Given the description of an element on the screen output the (x, y) to click on. 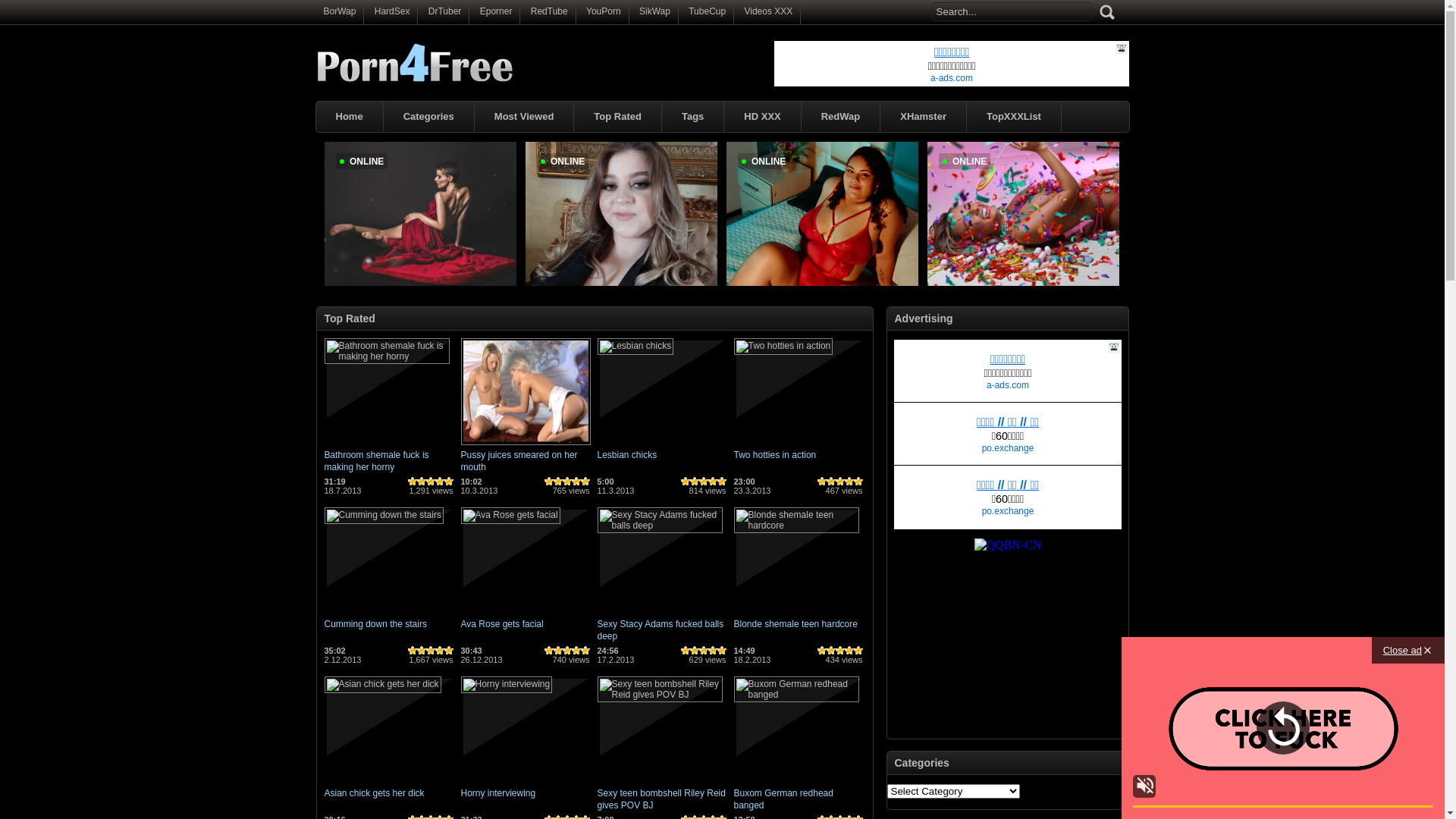
1 Star Element type: hover (548, 481)
5 Stars Element type: hover (857, 650)
2 Stars Element type: hover (421, 481)
Buxom German redhead banged Element type: text (783, 798)
Categories Element type: text (428, 116)
Ava Rose gets facial Element type: hover (510, 514)
3 Stars Element type: hover (703, 650)
Horny interviewing Element type: hover (506, 683)
Two hotties in action Element type: hover (783, 345)
4 Stars Element type: hover (575, 650)
Cumming down the stairs Element type: text (375, 623)
Blonde shemale teen hardcore Element type: hover (796, 525)
5 Stars Element type: hover (721, 481)
DrTuber Element type: text (444, 11)
4 Stars Element type: hover (439, 481)
2 Stars Element type: hover (557, 650)
YouPorn Element type: text (603, 11)
5 Stars Element type: hover (584, 481)
Two hotties in action Element type: text (775, 454)
XHamster Element type: text (923, 116)
Bathroom shemale fuck is making her horny Element type: hover (386, 356)
TopXXXList Element type: text (1013, 116)
3 Stars Element type: hover (430, 481)
3 Stars Element type: hover (839, 481)
TubeCup Element type: text (706, 11)
5 Stars Element type: hover (584, 650)
Lesbian chicks Element type: text (627, 454)
4 Stars Element type: hover (712, 481)
Asian chick gets her dick Element type: text (374, 792)
2 Stars Element type: hover (694, 481)
5 Stars Element type: hover (721, 650)
Cumming down the stairs Element type: hover (383, 514)
Pussy juices smeared on her mouth Element type: hover (525, 445)
Blonde shemale teen hardcore Element type: text (795, 623)
2 Stars Element type: hover (557, 481)
Pussy juices smeared on her mouth Element type: text (519, 460)
1 Star Element type: hover (821, 481)
Sexy teen bombshell Riley Reid gives POV BJ Element type: hover (659, 694)
Tags Element type: text (692, 116)
4 Stars Element type: hover (848, 650)
Ava Rose gets facial Element type: text (502, 623)
3 Stars Element type: hover (839, 650)
3 Stars Element type: hover (703, 481)
2 Stars Element type: hover (694, 650)
4 Stars Element type: hover (848, 481)
Top Rated Element type: text (617, 116)
1 Star Element type: hover (412, 481)
4 Stars Element type: hover (712, 650)
3 Stars Element type: hover (566, 481)
SikWap Element type: text (654, 11)
4 Stars Element type: hover (439, 650)
HardSex Element type: text (392, 11)
RedWap Element type: text (840, 116)
1 Star Element type: hover (821, 650)
Most Viewed Element type: text (524, 116)
1 Star Element type: hover (685, 481)
5 Stars Element type: hover (448, 481)
Eporner Element type: text (496, 11)
4 Stars Element type: hover (575, 481)
Horny interviewing Element type: text (498, 792)
2 Stars Element type: hover (421, 650)
Lesbian chicks Element type: hover (635, 345)
Asian chick gets her dick Element type: hover (382, 683)
2 Stars Element type: hover (830, 481)
Bathroom shemale fuck is making her horny Element type: text (376, 460)
5 Stars Element type: hover (857, 481)
3 Stars Element type: hover (566, 650)
Videos XXX Element type: text (767, 11)
Sexy Stacy Adams fucked balls deep Element type: hover (659, 525)
BorWap Element type: text (339, 11)
Buxom German redhead banged Element type: hover (796, 694)
3 Stars Element type: hover (430, 650)
Sexy Stacy Adams fucked balls deep Element type: text (660, 629)
1 Star Element type: hover (548, 650)
2 Stars Element type: hover (830, 650)
5 Stars Element type: hover (448, 650)
Sexy teen bombshell Riley Reid gives POV BJ Element type: text (661, 798)
RedTube Element type: text (548, 11)
HD XXX Element type: text (762, 116)
Home Element type: text (348, 116)
1 Star Element type: hover (685, 650)
1 Star Element type: hover (412, 650)
